Given the description of an element on the screen output the (x, y) to click on. 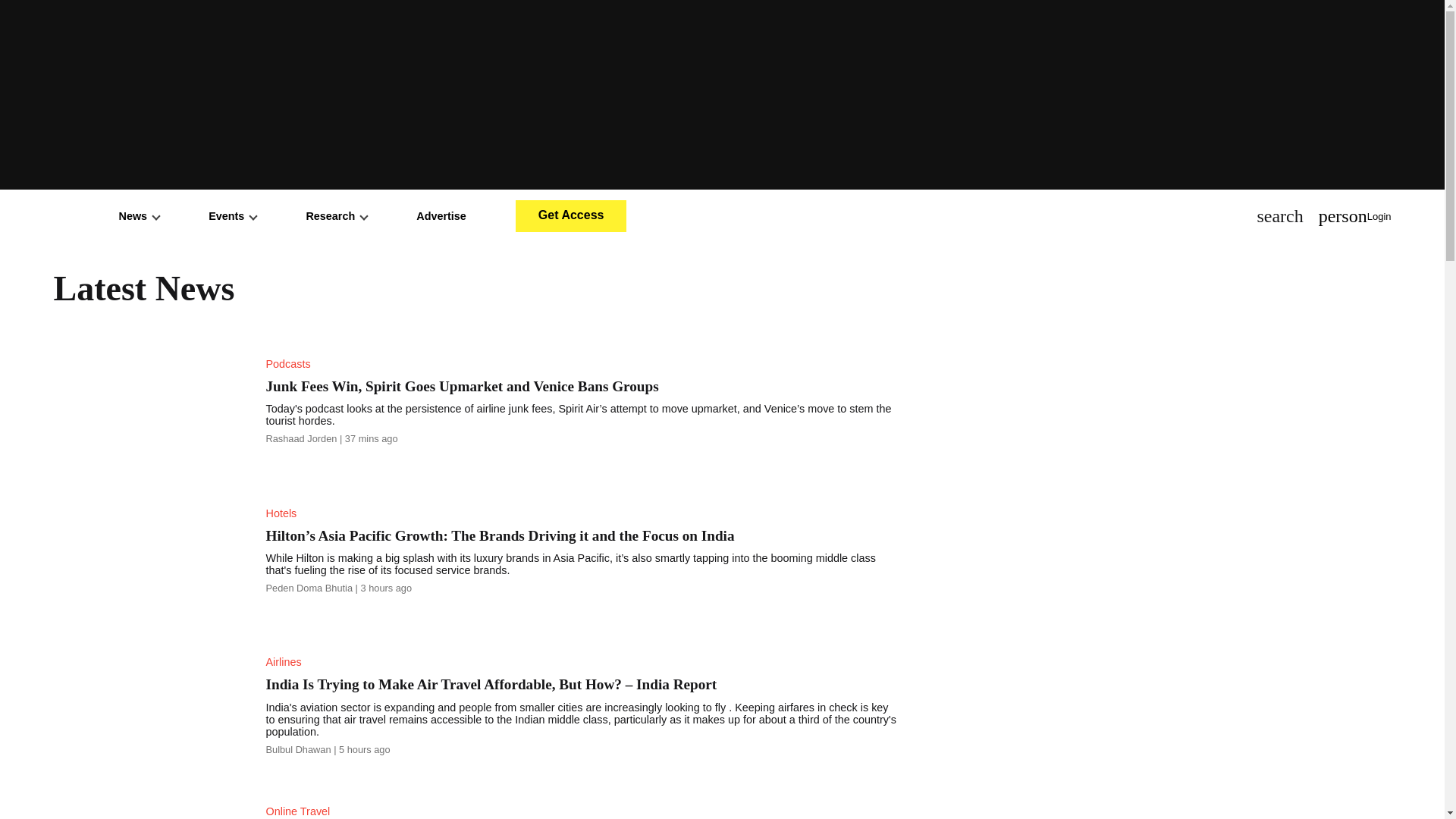
Events (232, 215)
Research (335, 215)
